Given the description of an element on the screen output the (x, y) to click on. 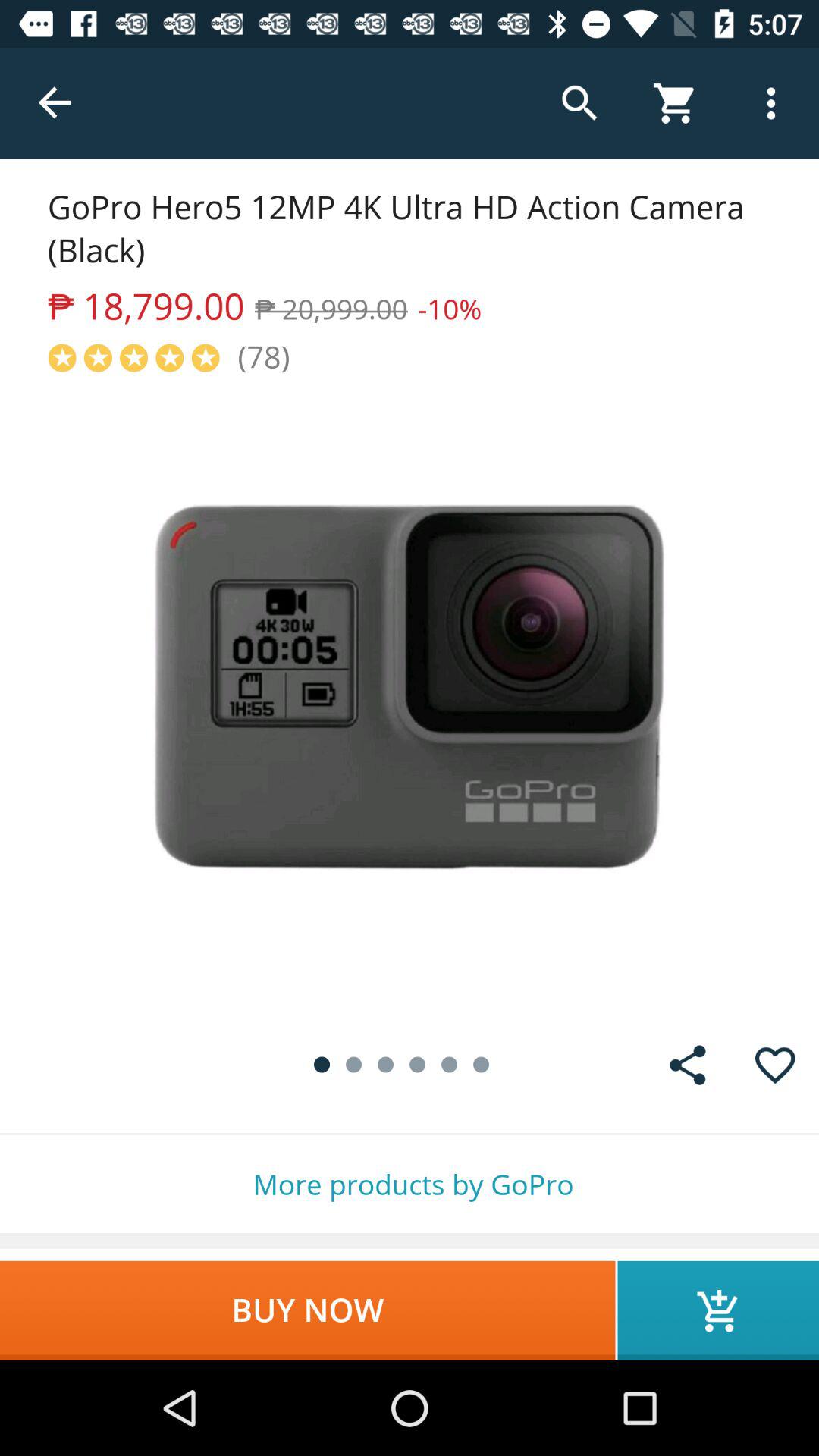
share button (687, 1065)
